Given the description of an element on the screen output the (x, y) to click on. 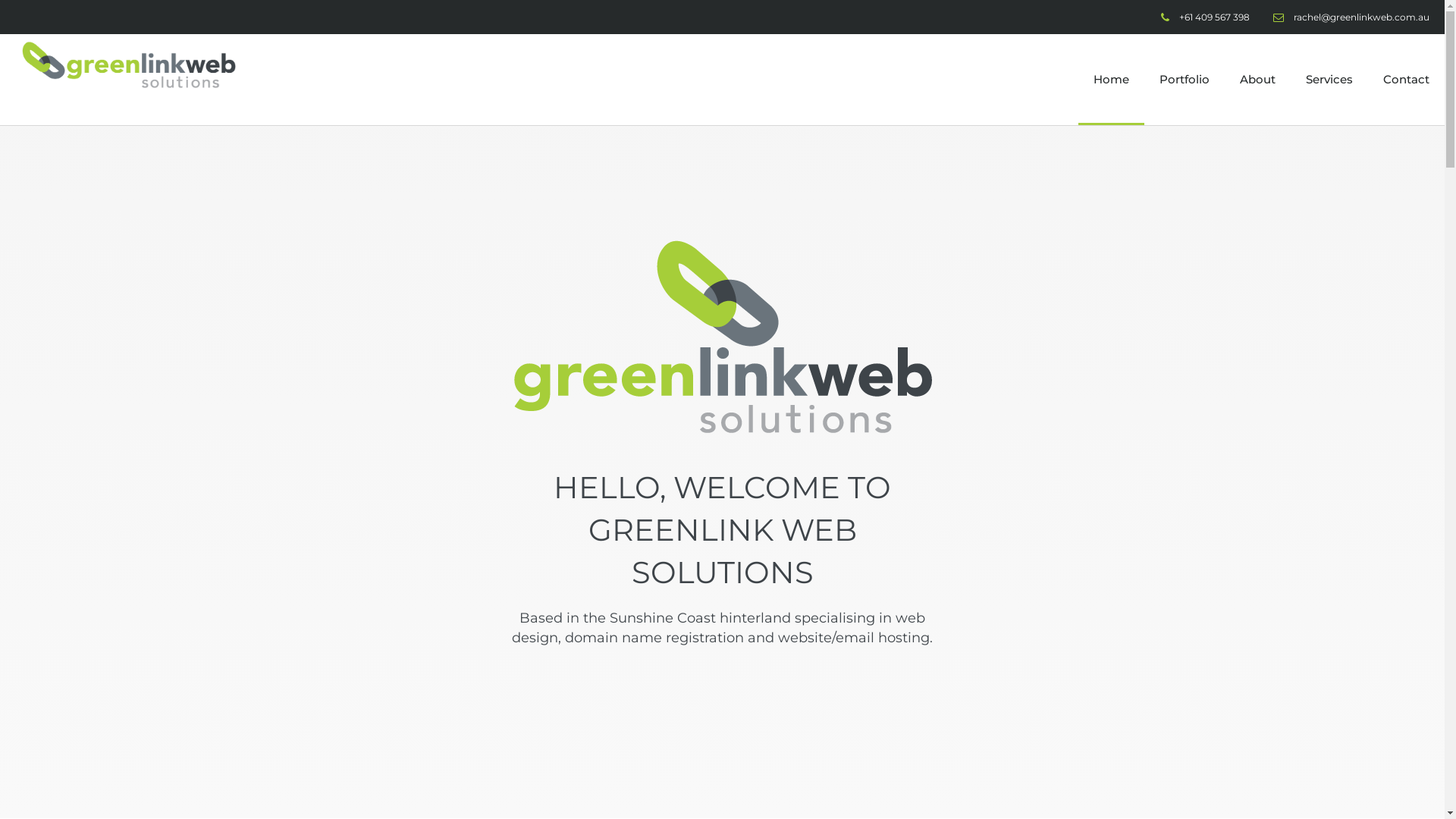
Services Element type: text (1329, 79)
GLWS-logos Element type: hover (721, 336)
Contact Element type: text (1406, 79)
Portfolio Element type: text (1184, 79)
Home Element type: text (1111, 79)
About Element type: text (1257, 79)
